Given the description of an element on the screen output the (x, y) to click on. 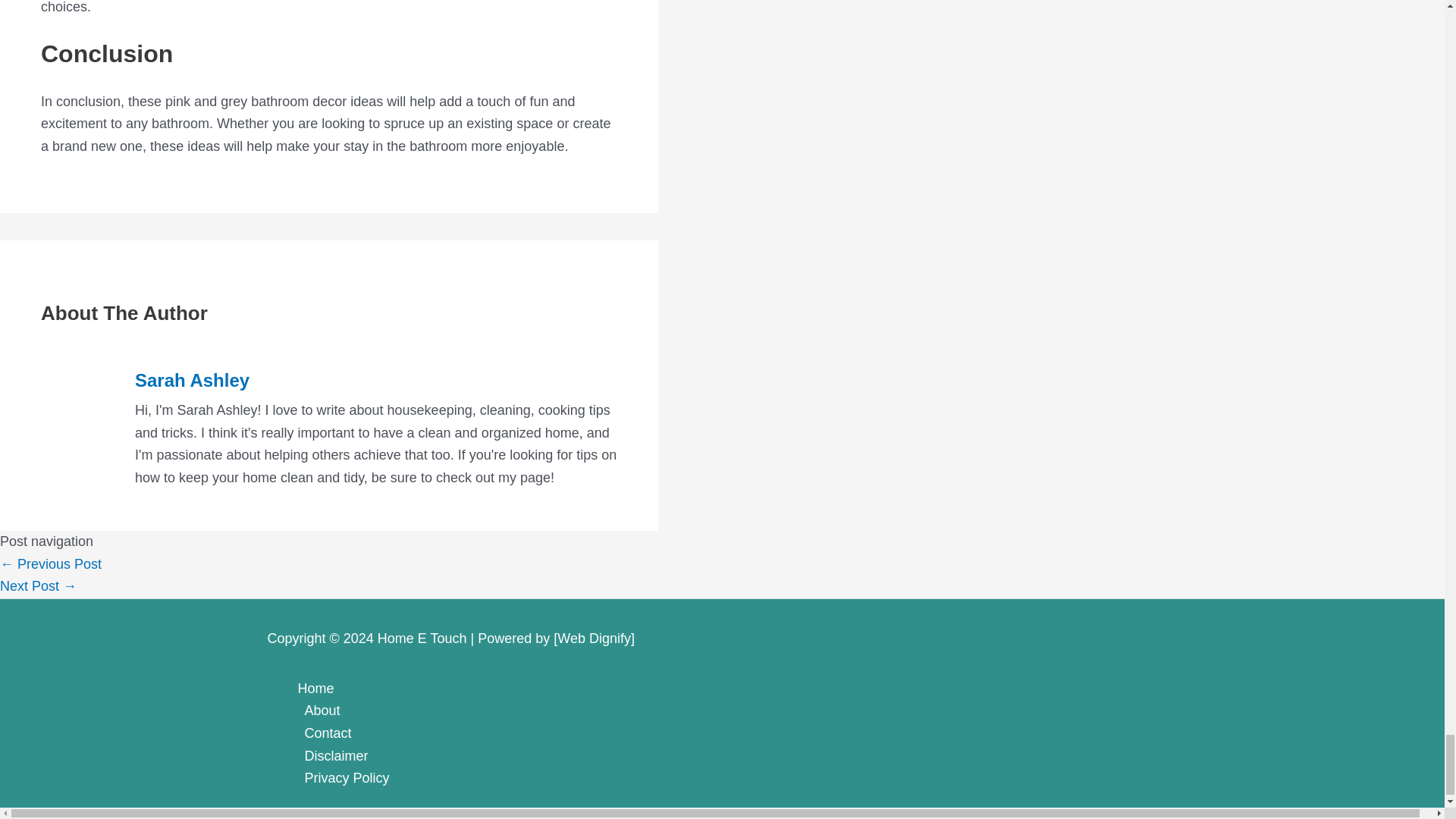
Glam Bathroom Decor Ideas (38, 585)
Sarah Ashley (376, 381)
Navy Blue Bathroom Decor Ideas (50, 563)
